Given the description of an element on the screen output the (x, y) to click on. 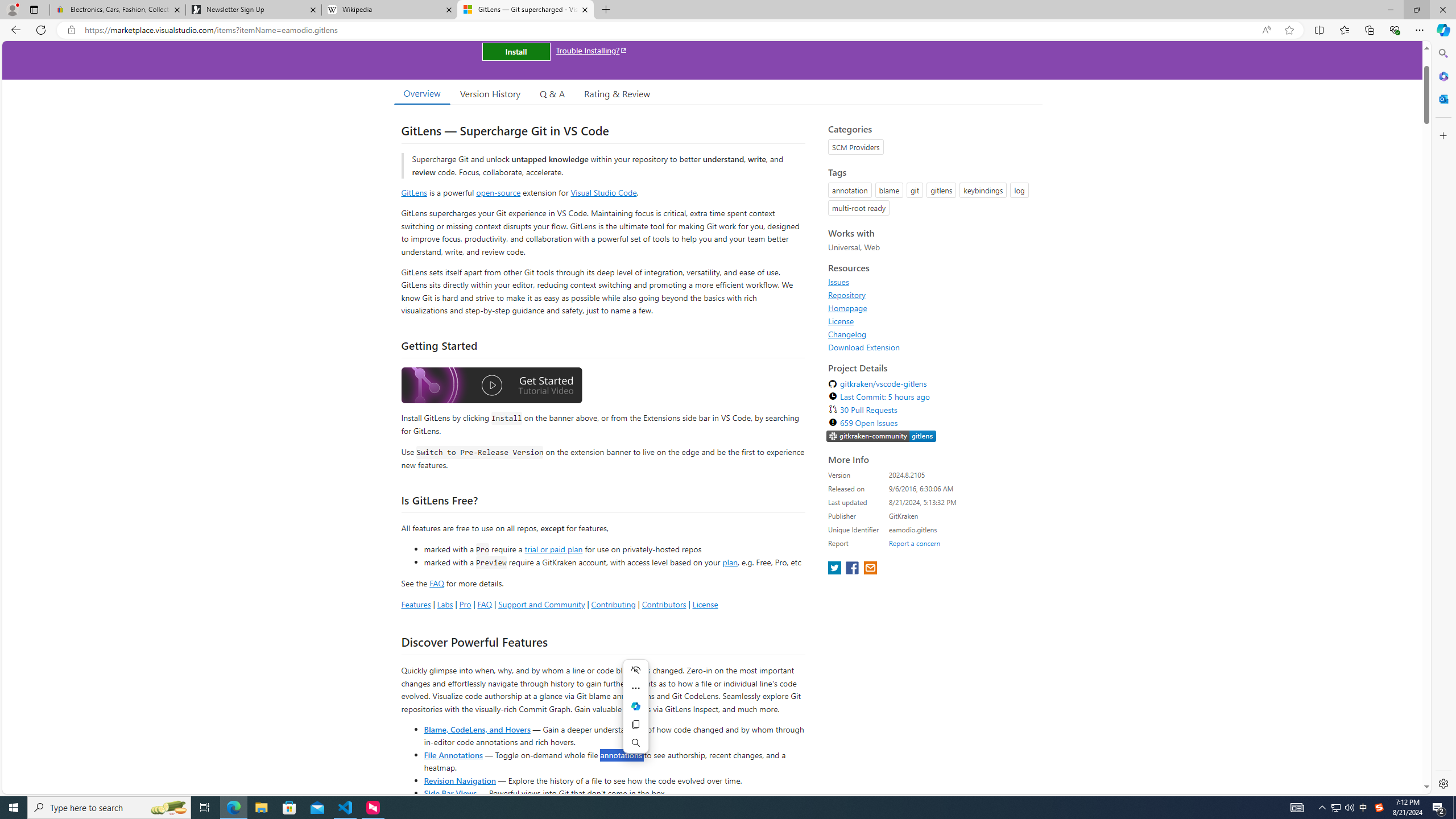
open-source (498, 192)
share extension on facebook (853, 568)
Q & A (552, 92)
share extension on twitter (835, 568)
Version History (489, 92)
Repository (931, 294)
